Given the description of an element on the screen output the (x, y) to click on. 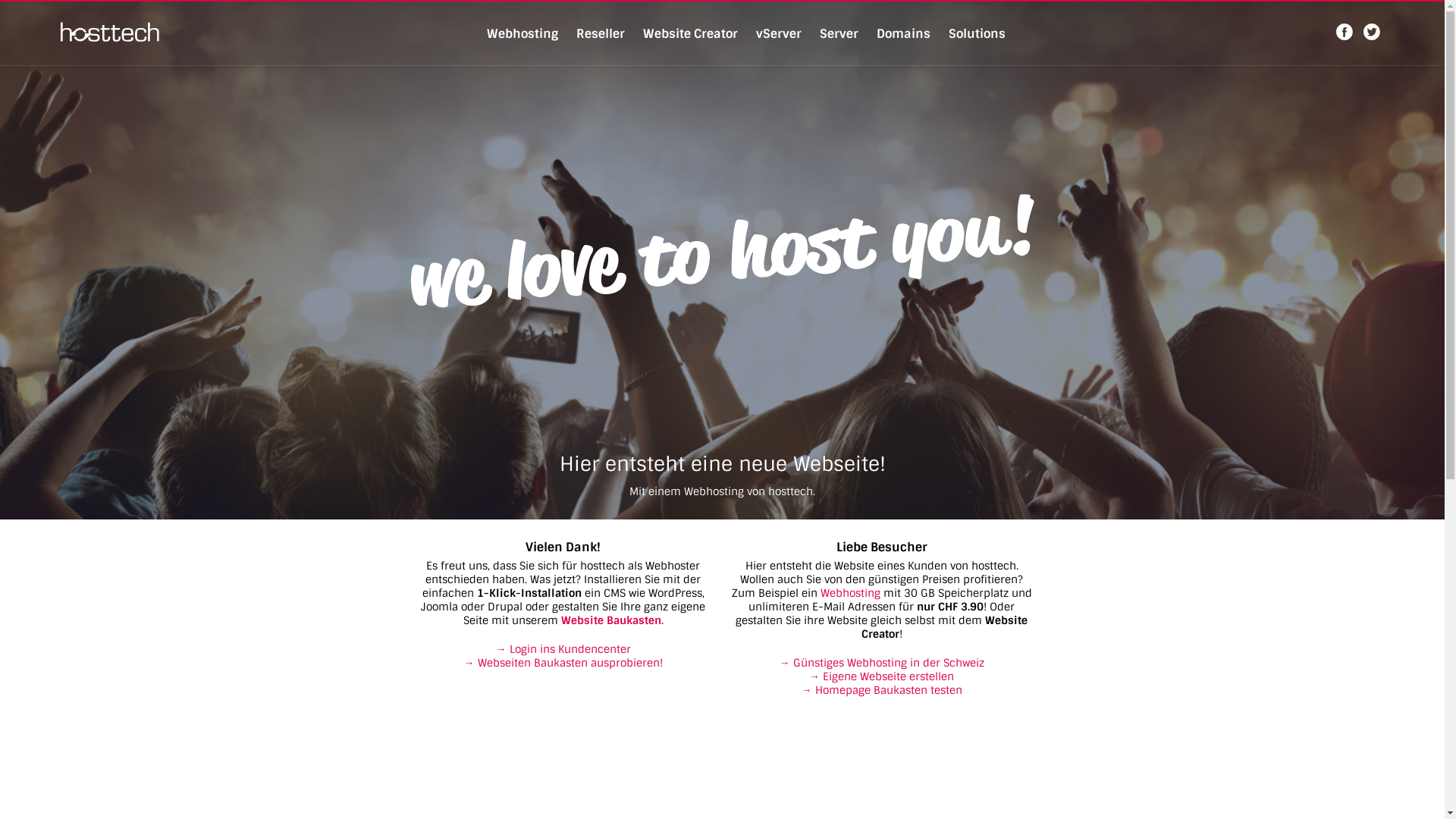
Webhosting Element type: text (522, 33)
Domains Element type: text (903, 33)
Solutions Element type: text (975, 33)
Server Element type: text (838, 33)
Reseller Element type: text (600, 33)
Webhosting Element type: text (850, 592)
Website Baukasten Element type: text (611, 620)
Website Creator Element type: text (690, 33)
vServer Element type: text (777, 33)
